Given the description of an element on the screen output the (x, y) to click on. 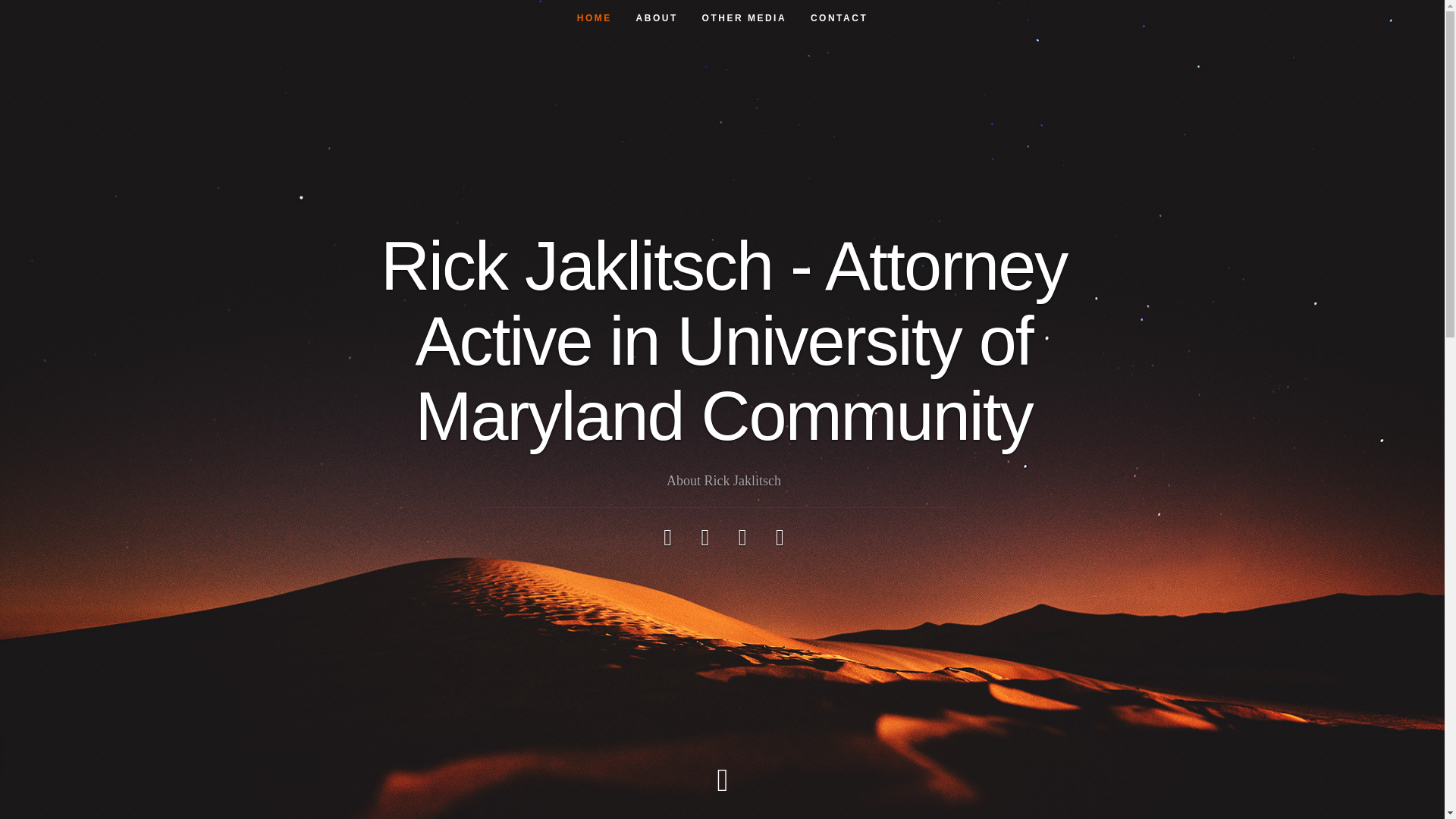
HOME (594, 18)
CONTACT (838, 18)
OTHER MEDIA (744, 18)
ABOUT (656, 18)
ABOUT (656, 18)
HOME (594, 18)
OTHER MEDIA (744, 18)
CONTACT (838, 18)
